Given the description of an element on the screen output the (x, y) to click on. 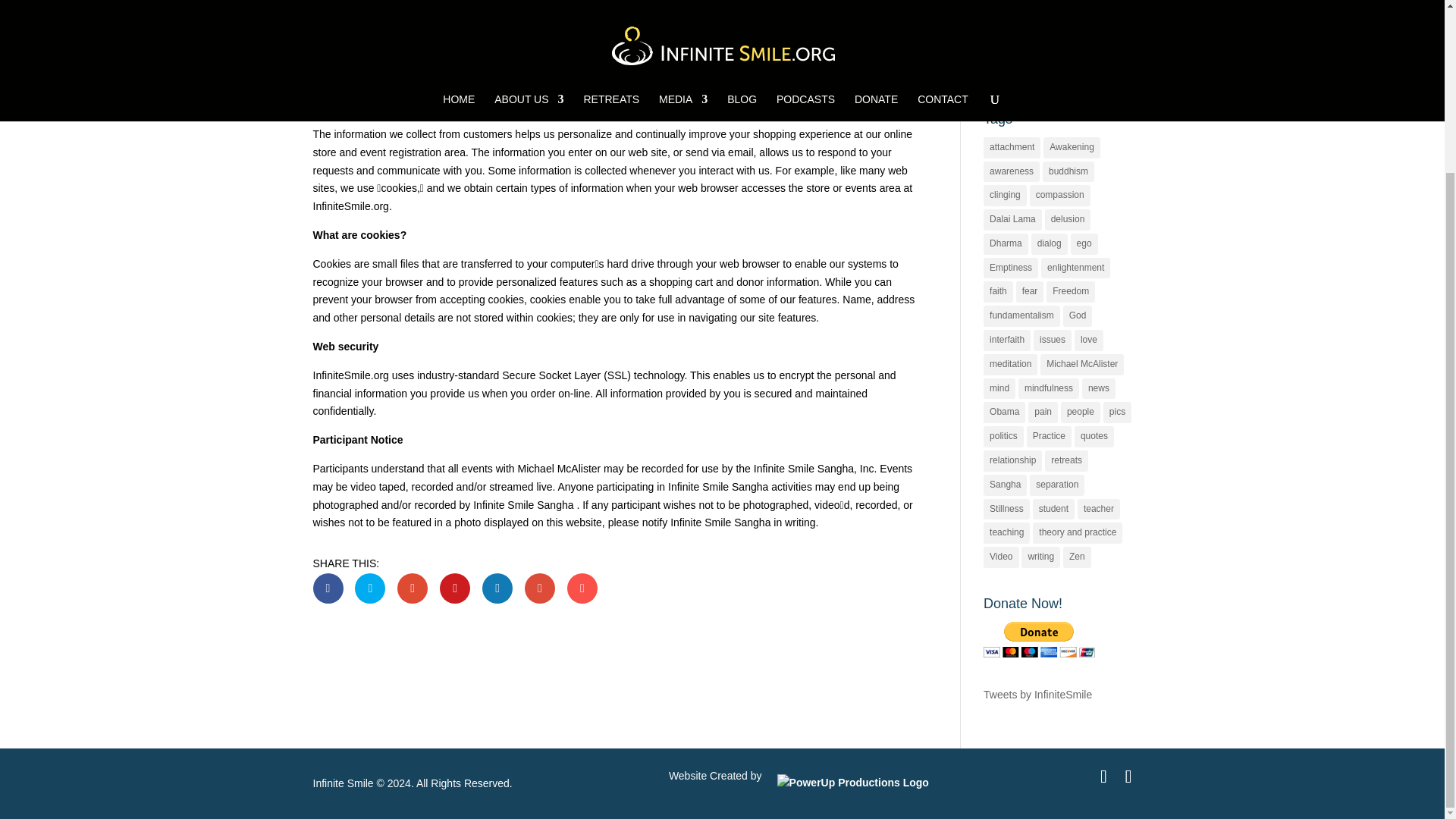
compassion (1059, 195)
clinging (1005, 195)
enlightenment (1075, 268)
faith (998, 291)
Emptiness (1011, 268)
attachment (1012, 147)
Dharma (1005, 243)
Awakening (1071, 147)
Dalai Lama (1013, 219)
awareness (1011, 171)
delusion (1067, 219)
buddhism (1068, 171)
ego (1083, 243)
fear (1029, 291)
dialog (1048, 243)
